Given the description of an element on the screen output the (x, y) to click on. 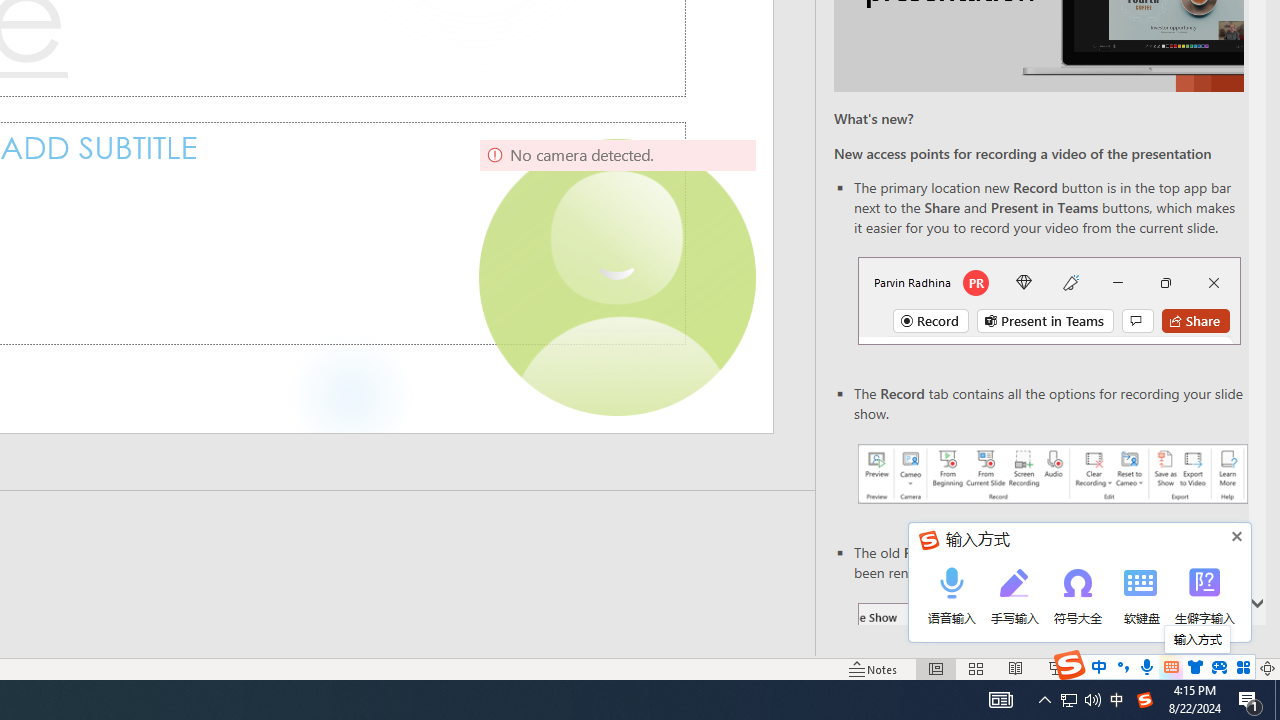
Zoom 131% (1234, 668)
Record your presentations screenshot one (1052, 473)
Record button in top bar (1049, 300)
